Given the description of an element on the screen output the (x, y) to click on. 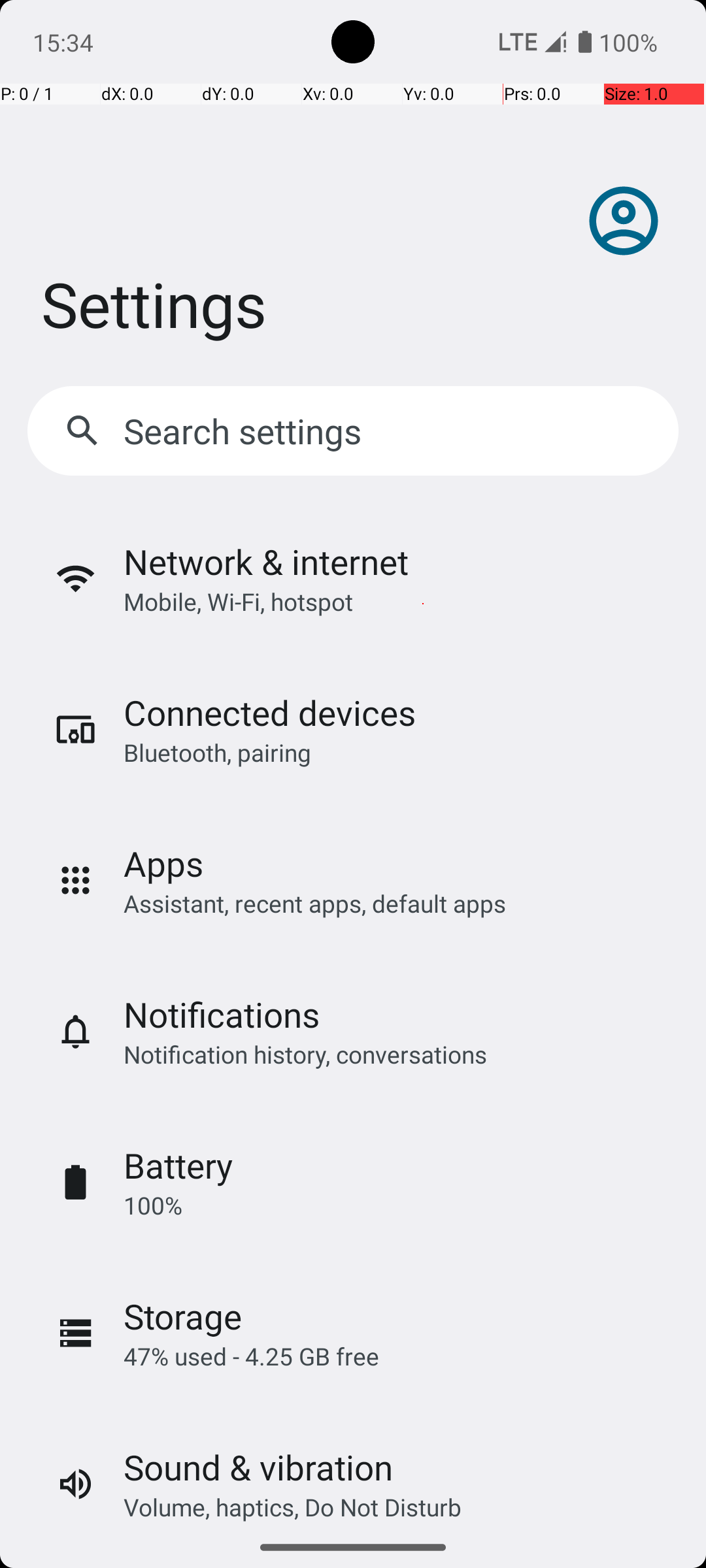
47% used - 4.25 GB free Element type: android.widget.TextView (251, 1355)
